Given the description of an element on the screen output the (x, y) to click on. 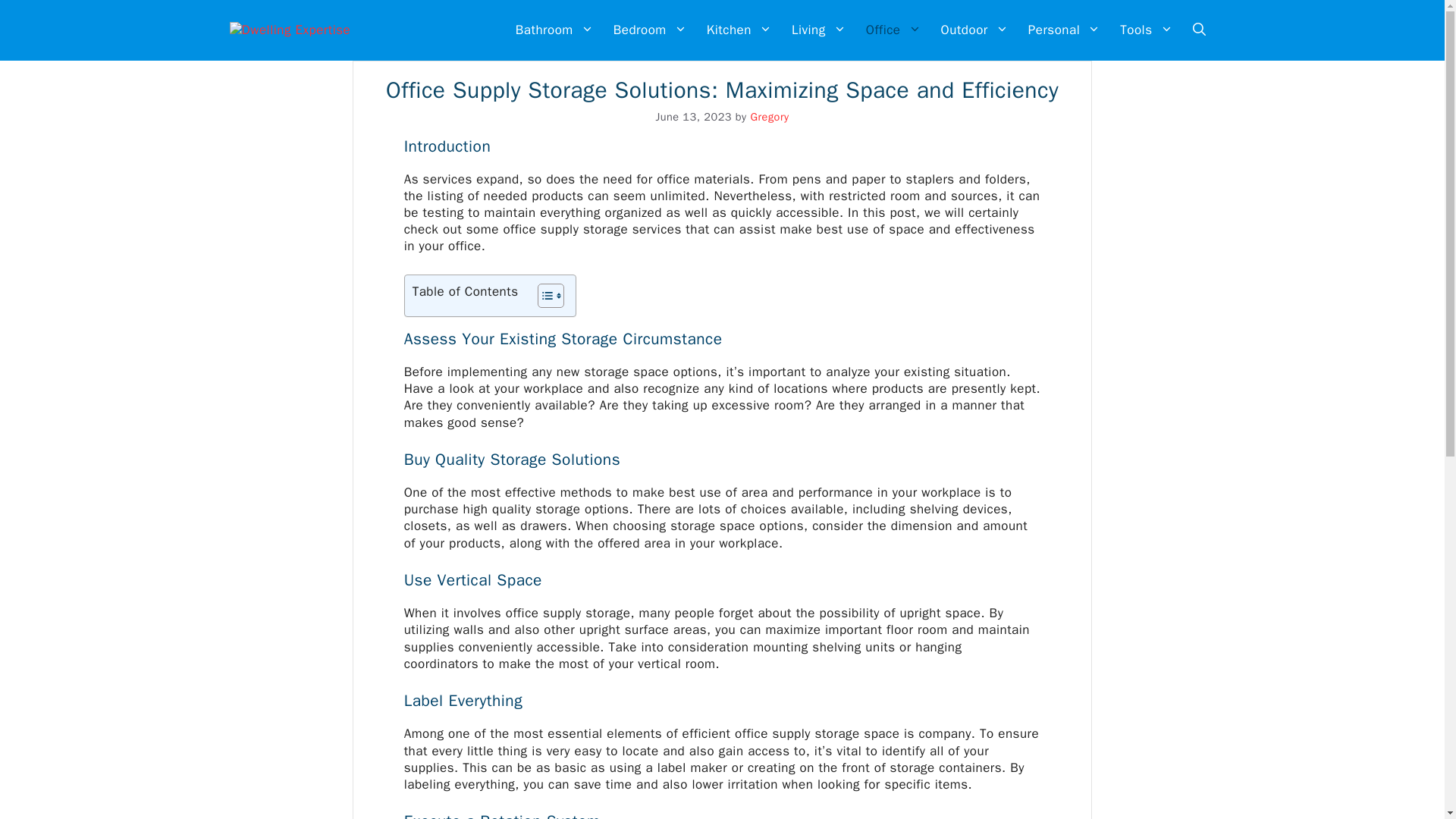
Living (818, 30)
Bathroom (554, 30)
Outdoor (974, 30)
Kitchen (739, 30)
View all posts by Gregory (769, 116)
Office (893, 30)
Bedroom (650, 30)
